Given the description of an element on the screen output the (x, y) to click on. 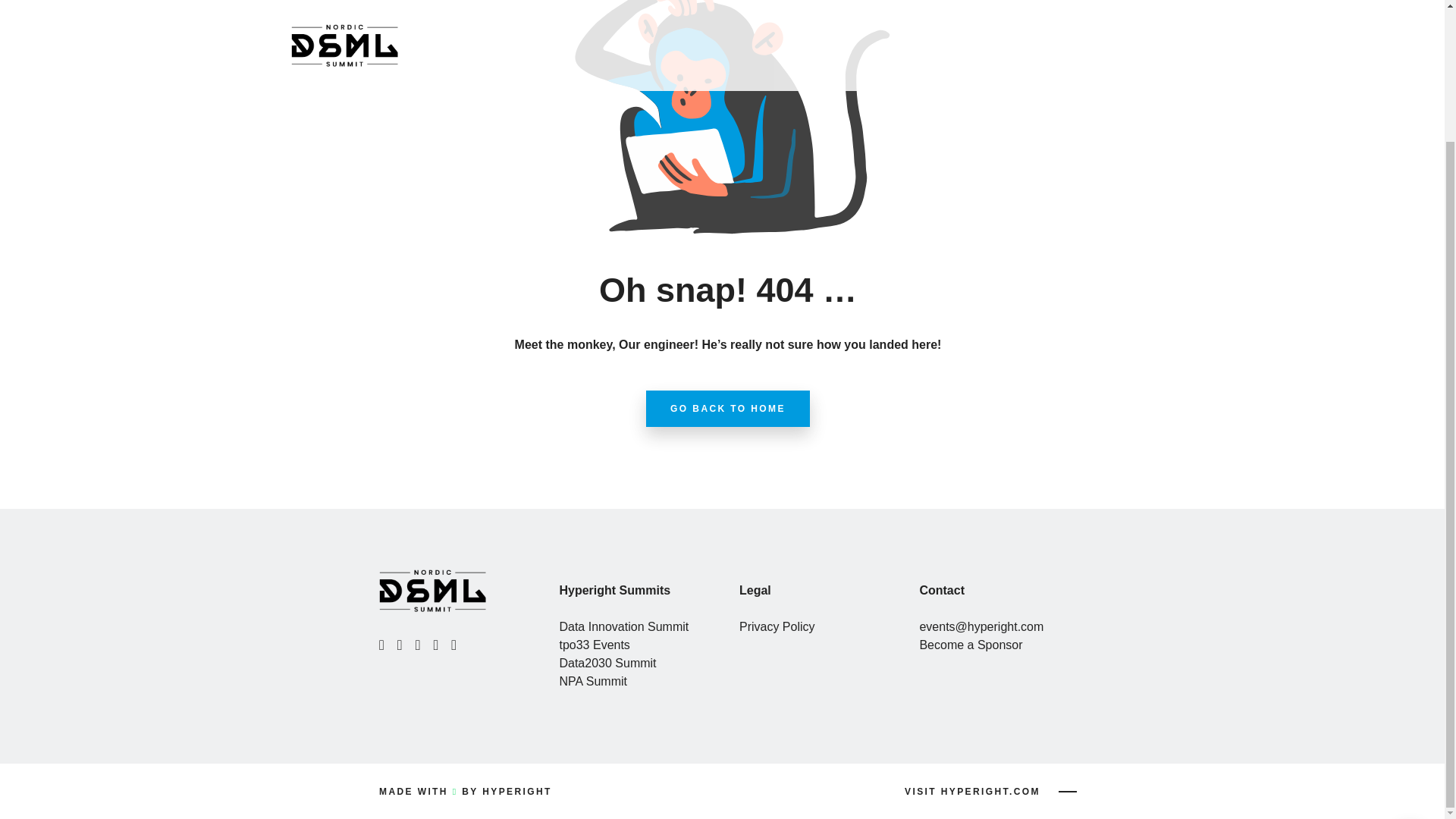
VISIT HYPERIGHT.COM (990, 791)
MADE WITH BY HYPERIGHT (464, 791)
NPA Summit (593, 680)
Data2030 Summit (607, 662)
tpo33 Events (593, 644)
Privacy Policy (777, 626)
Data Innovation Summit (623, 626)
Become a Sponsor (970, 644)
GO BACK TO HOME (727, 408)
